Given the description of an element on the screen output the (x, y) to click on. 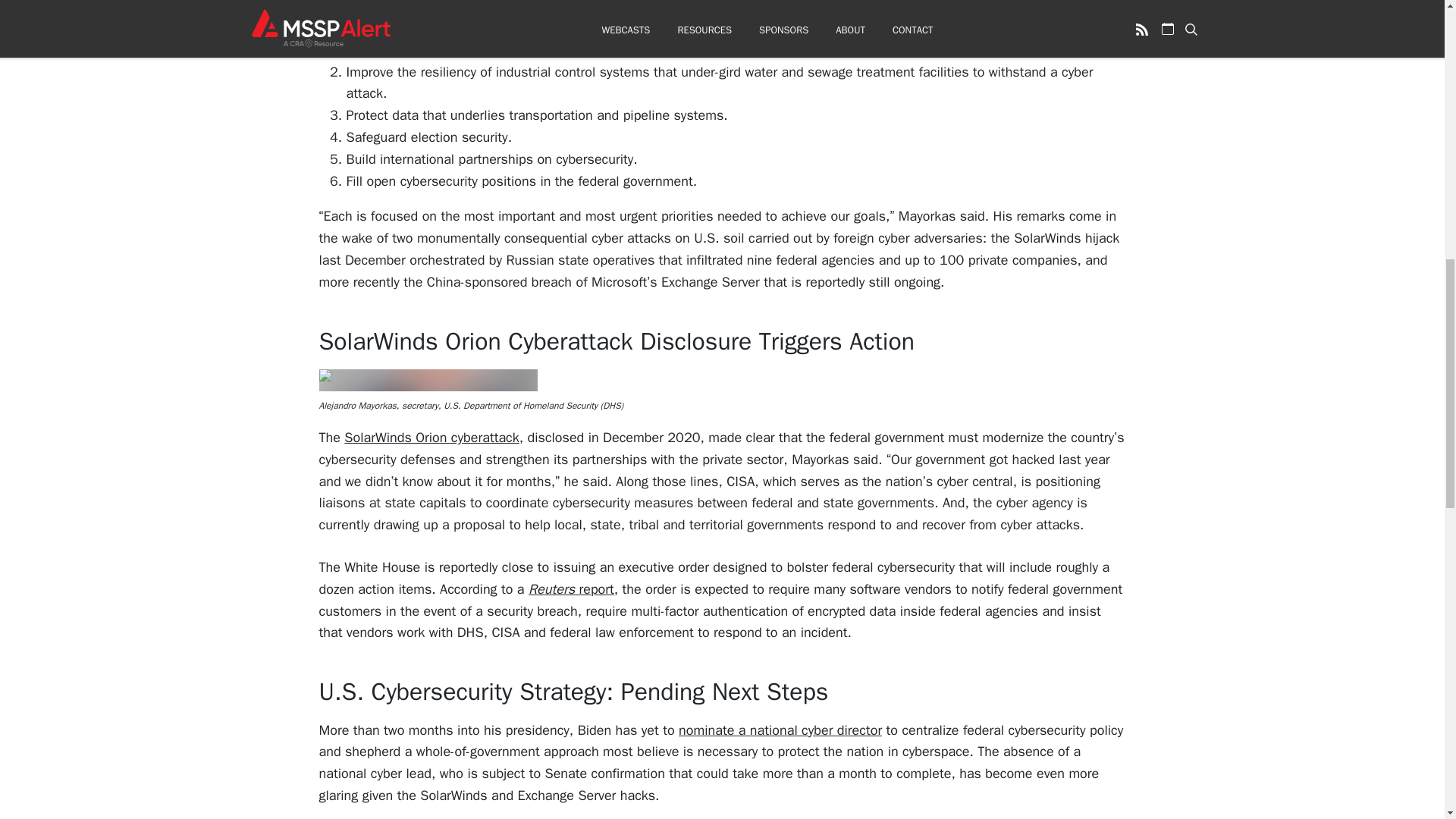
nominate a national cyber director (780, 729)
Reuters report (571, 588)
SolarWinds Orion cyberattack (430, 437)
